Given the description of an element on the screen output the (x, y) to click on. 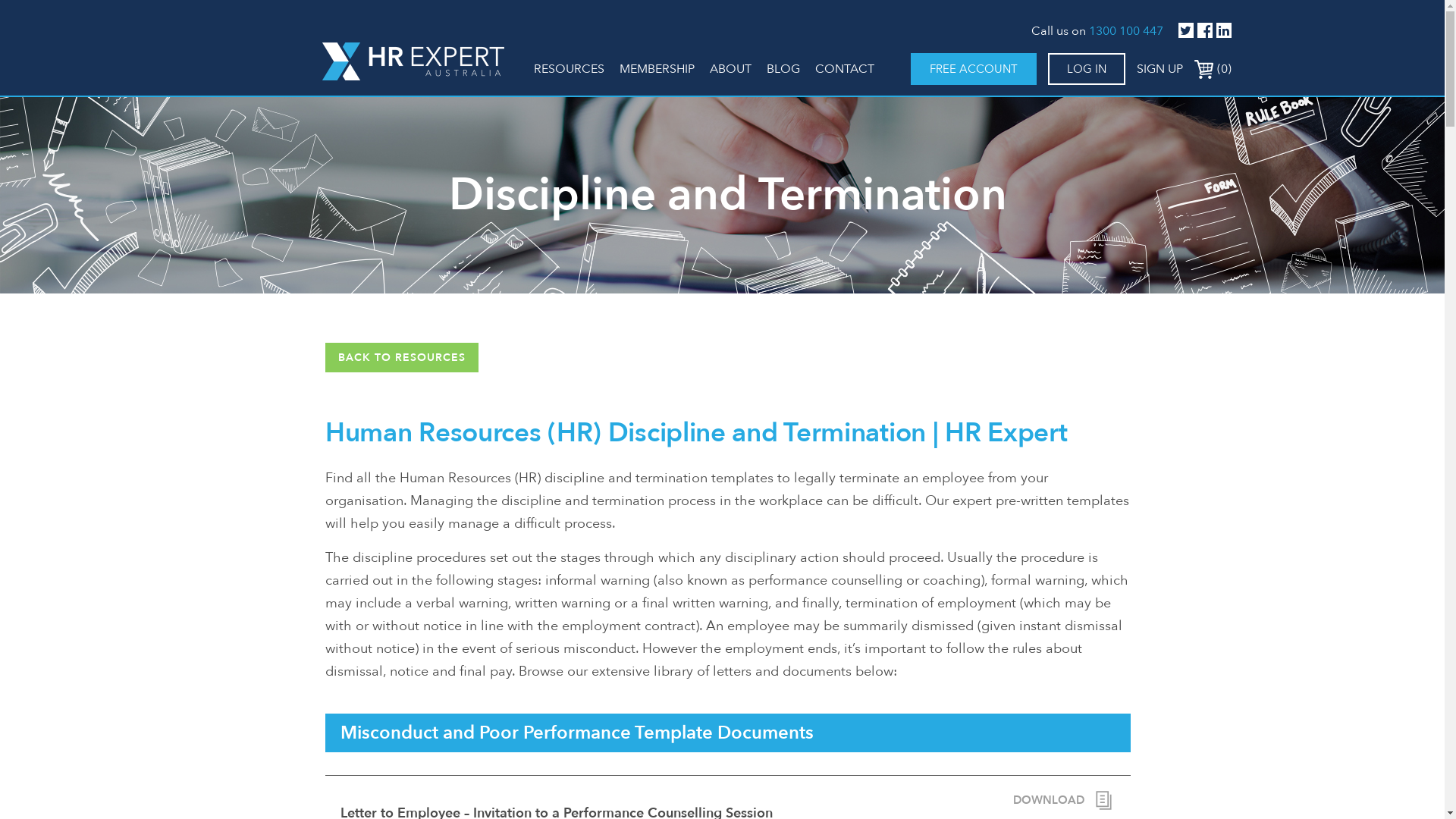
FREE ACCOUNT Element type: text (972, 68)
CONTACT Element type: text (843, 68)
1300 100 447 Element type: text (1125, 30)
BACK TO RESOURCES Element type: text (401, 357)
DOWNLOAD Element type: text (1064, 801)
MEMBERSHIP Element type: text (655, 68)
BLOG Element type: text (782, 68)
SIGN UP Element type: text (1158, 68)
(0) Element type: text (1211, 68)
ABOUT Element type: text (730, 68)
RESOURCES Element type: text (568, 68)
LOG IN Element type: text (1086, 68)
